Given the description of an element on the screen output the (x, y) to click on. 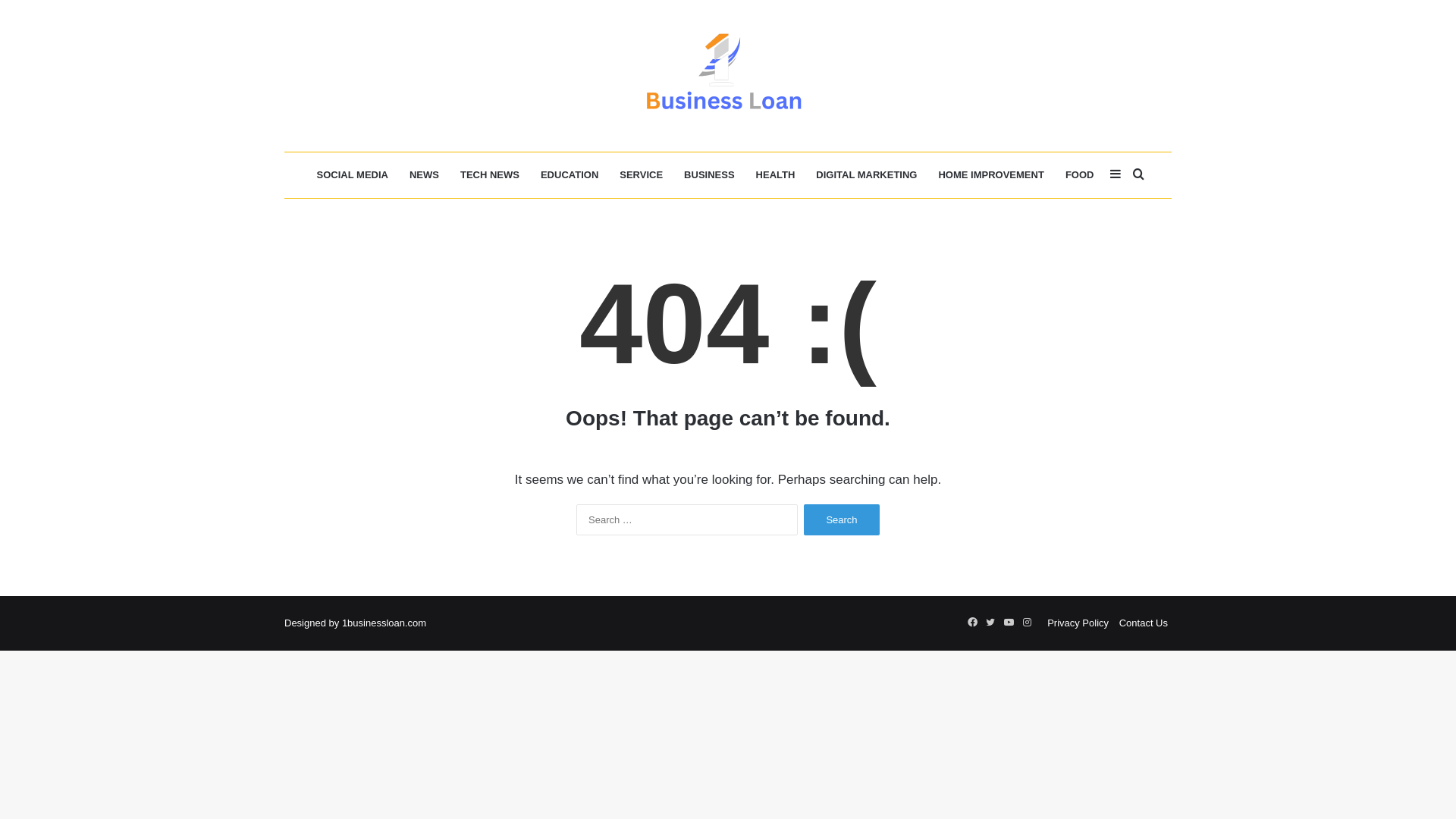
SERVICE Element type: text (640, 174)
HEALTH Element type: text (775, 174)
Search Element type: text (841, 519)
Twitter Element type: text (990, 622)
TECH NEWS Element type: text (489, 174)
HOME IMPROVEMENT Element type: text (990, 174)
BUSINESS Element type: text (708, 174)
1businessloan.com Element type: text (384, 622)
Search for Element type: text (1137, 174)
Contact Us Element type: text (1143, 622)
YouTube Element type: text (1008, 622)
DIGITAL MARKETING Element type: text (866, 174)
1businessloan.com Element type: hover (727, 75)
Instagram Element type: text (1026, 622)
Privacy Policy Element type: text (1077, 622)
Sidebar Element type: text (1115, 174)
FOOD Element type: text (1079, 174)
EDUCATION Element type: text (569, 174)
Facebook Element type: text (972, 622)
SOCIAL MEDIA Element type: text (352, 174)
NEWS Element type: text (423, 174)
